Given the description of an element on the screen output the (x, y) to click on. 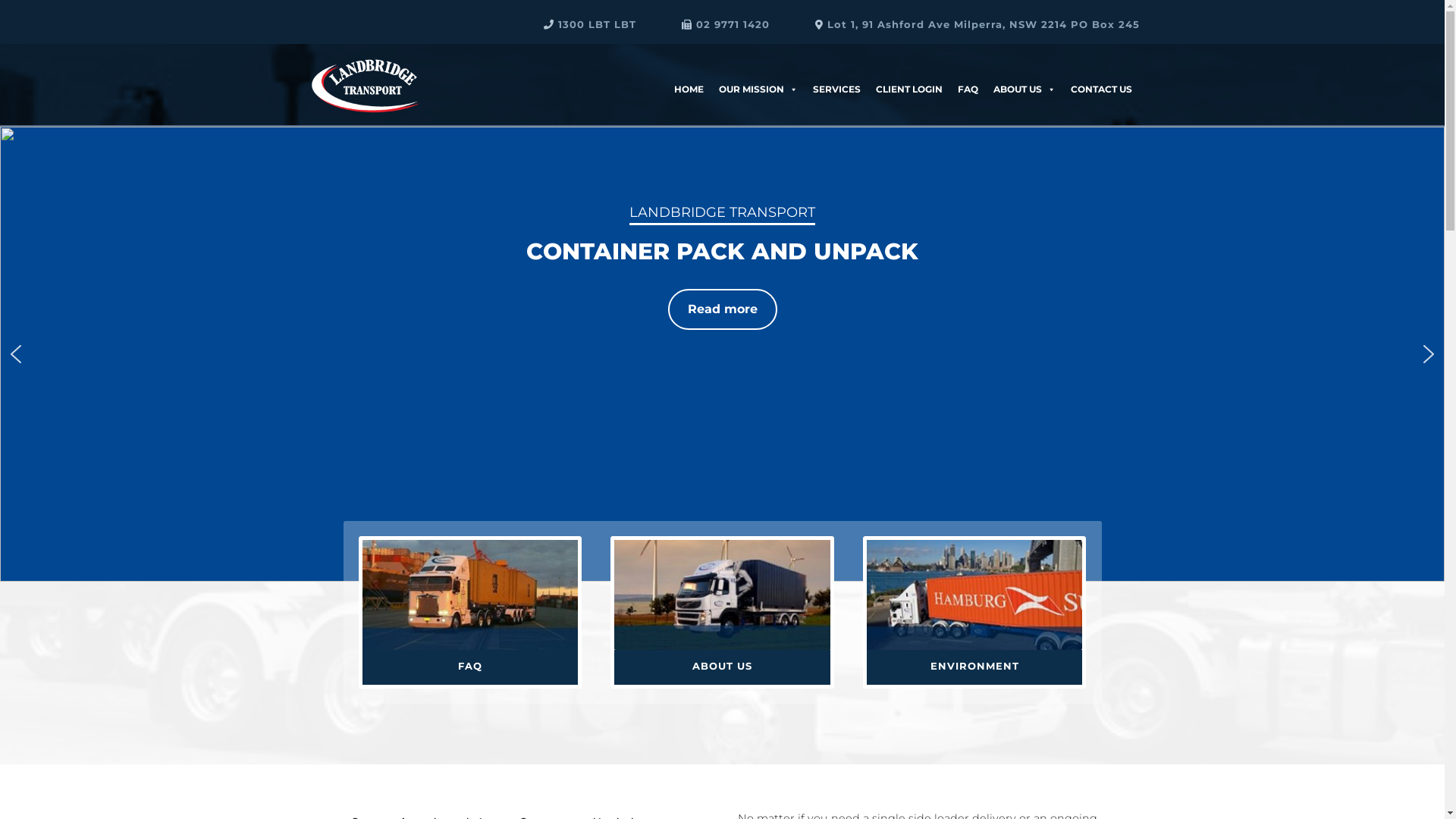
CLIENT LOGIN Element type: text (908, 74)
OUR MISSION Element type: text (758, 74)
FAQ Element type: text (967, 74)
HOME Element type: text (687, 74)
ENVIRONMENT Element type: text (974, 665)
Read more Element type: text (183, 308)
SERVICES Element type: text (836, 74)
CONTACT US Element type: text (1101, 74)
FAQ Element type: text (470, 665)
ABOUT US Element type: text (1024, 74)
ABOUT US Element type: text (722, 665)
